Given the description of an element on the screen output the (x, y) to click on. 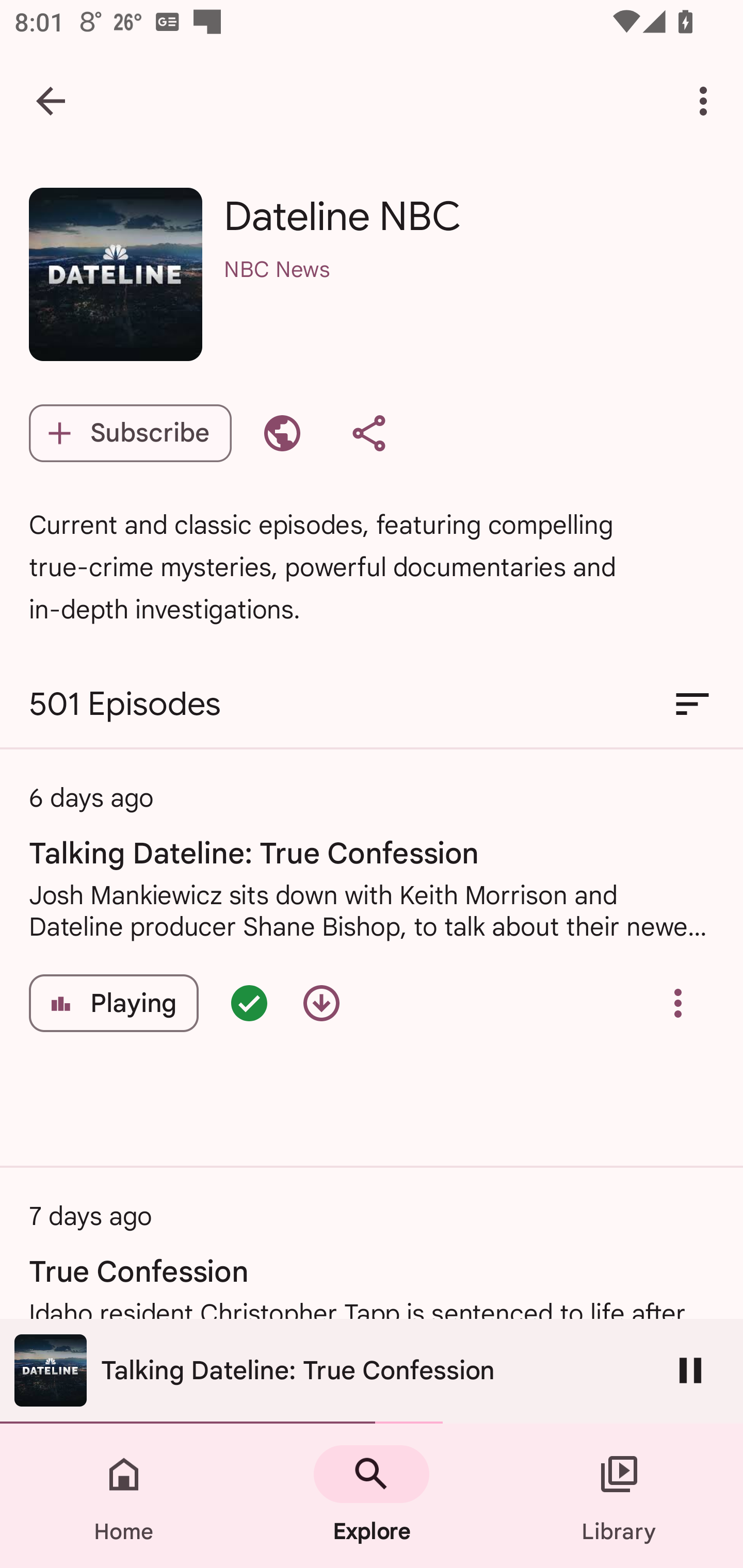
Navigate up (50, 101)
More options (706, 101)
NBC News (468, 295)
Subscribe (129, 433)
Visit website (282, 433)
Share (368, 433)
Sort (692, 703)
Episode queued - double tap for options (249, 1002)
Download episode (321, 1002)
Overflow menu (677, 1002)
Pause (690, 1370)
Home (123, 1495)
Library (619, 1495)
